Given the description of an element on the screen output the (x, y) to click on. 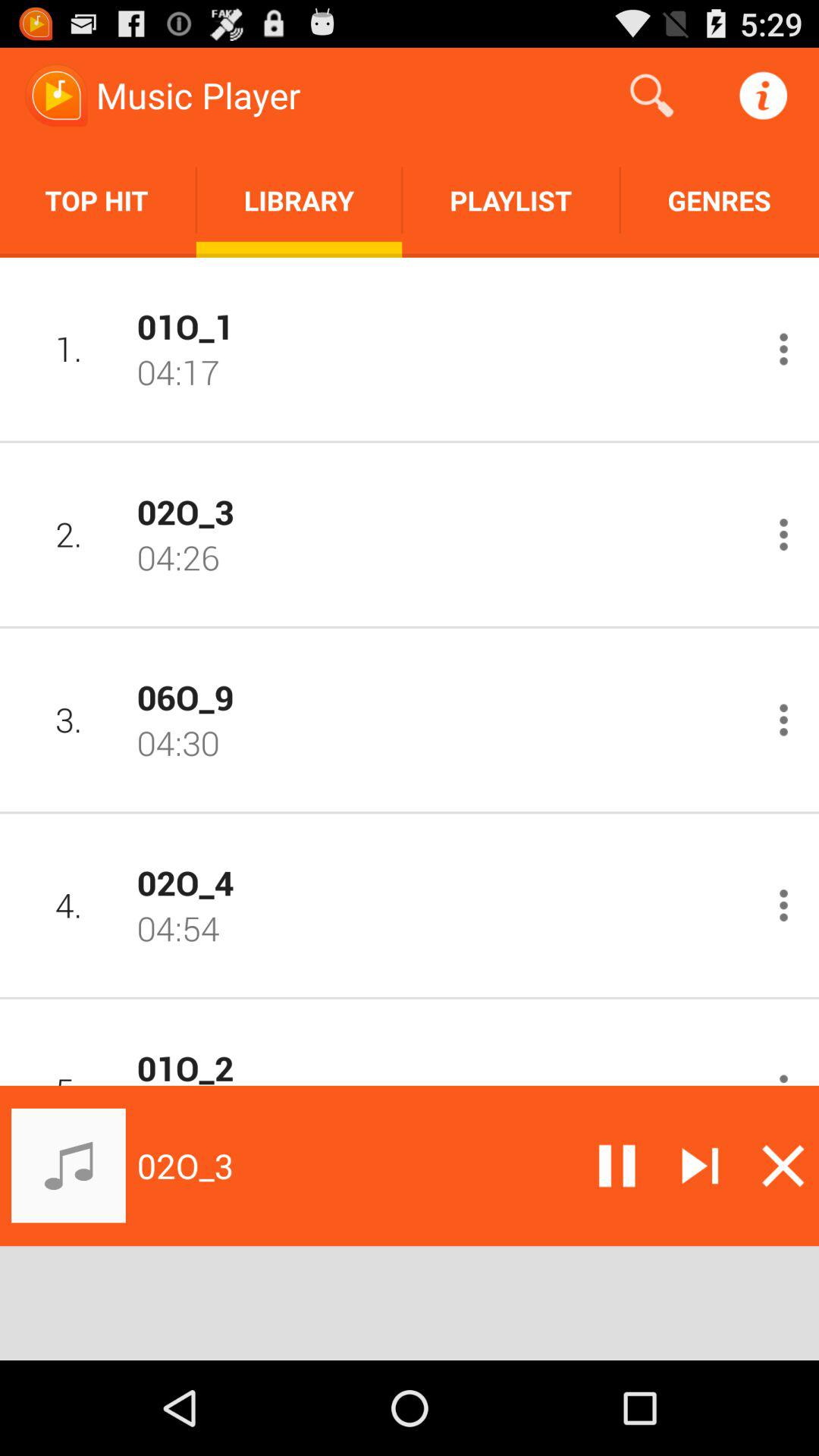
pause song (616, 1165)
